Given the description of an element on the screen output the (x, y) to click on. 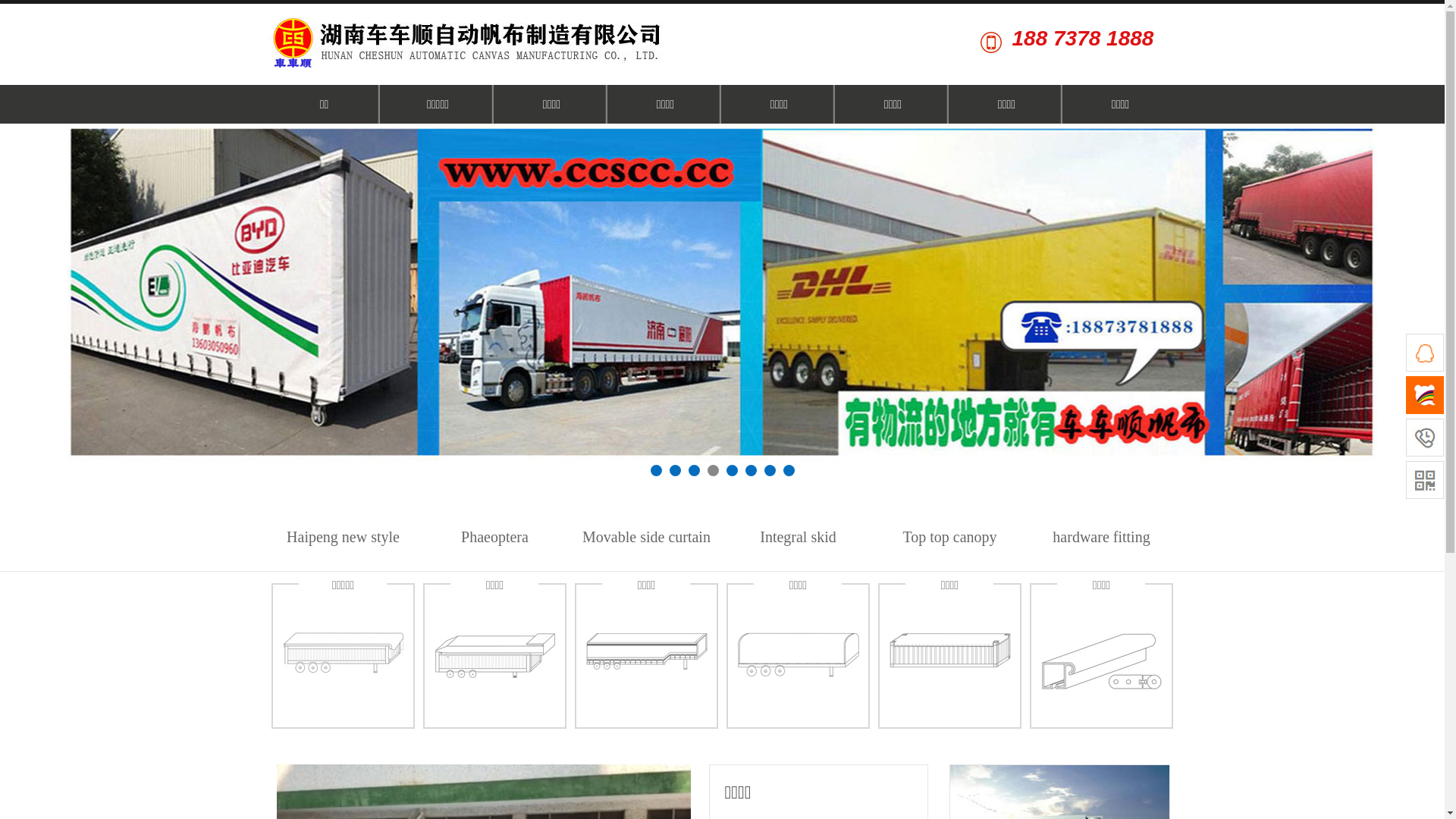
Phaeoptera Element type: text (494, 536)
Movable side curtain Element type: text (645, 536)
hardware fitting Element type: text (1100, 536)
188 7378 1888 Element type: text (1077, 40)
Haipeng new style Element type: text (342, 536)
Integral skid Element type: text (797, 536)
Top top canopy Element type: text (949, 536)
